Given the description of an element on the screen output the (x, y) to click on. 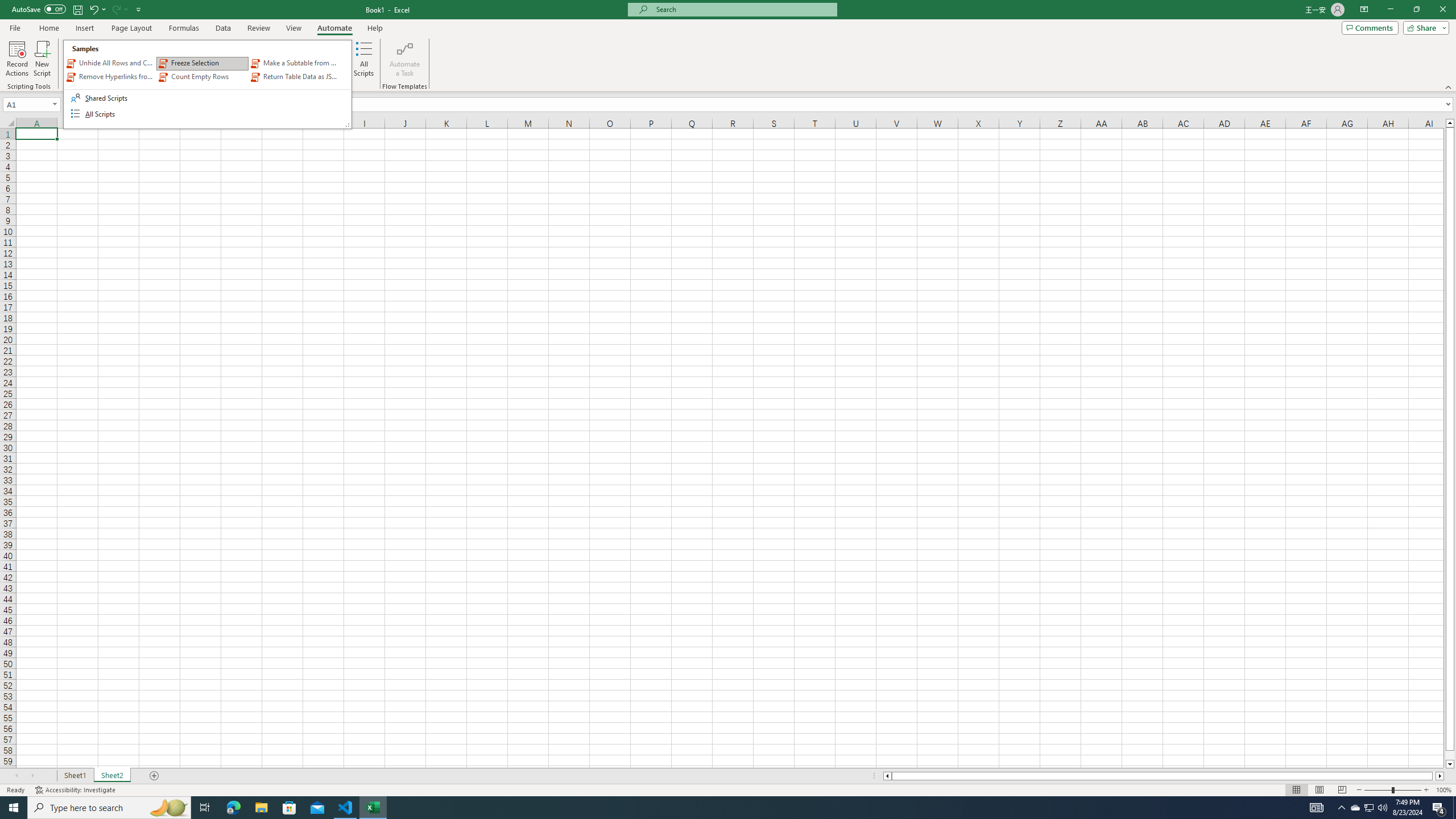
All Scripts (363, 58)
System (6, 6)
Line up (1449, 122)
Home (48, 28)
Automate (334, 28)
File Explorer (261, 807)
Minimize (1390, 9)
Zoom In (1426, 790)
Comments (1369, 27)
Start (13, 807)
Notification Chevron (1341, 807)
Page Break Preview (1342, 790)
New Script (41, 58)
Class: MsoCommandBar (728, 789)
System (6, 6)
